Given the description of an element on the screen output the (x, y) to click on. 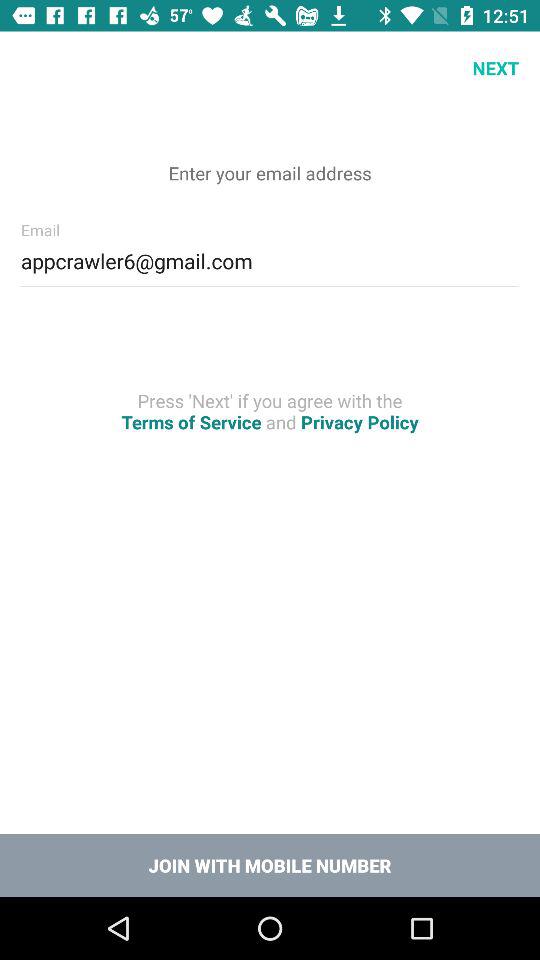
press item to the left of the next (36, 68)
